Given the description of an element on the screen output the (x, y) to click on. 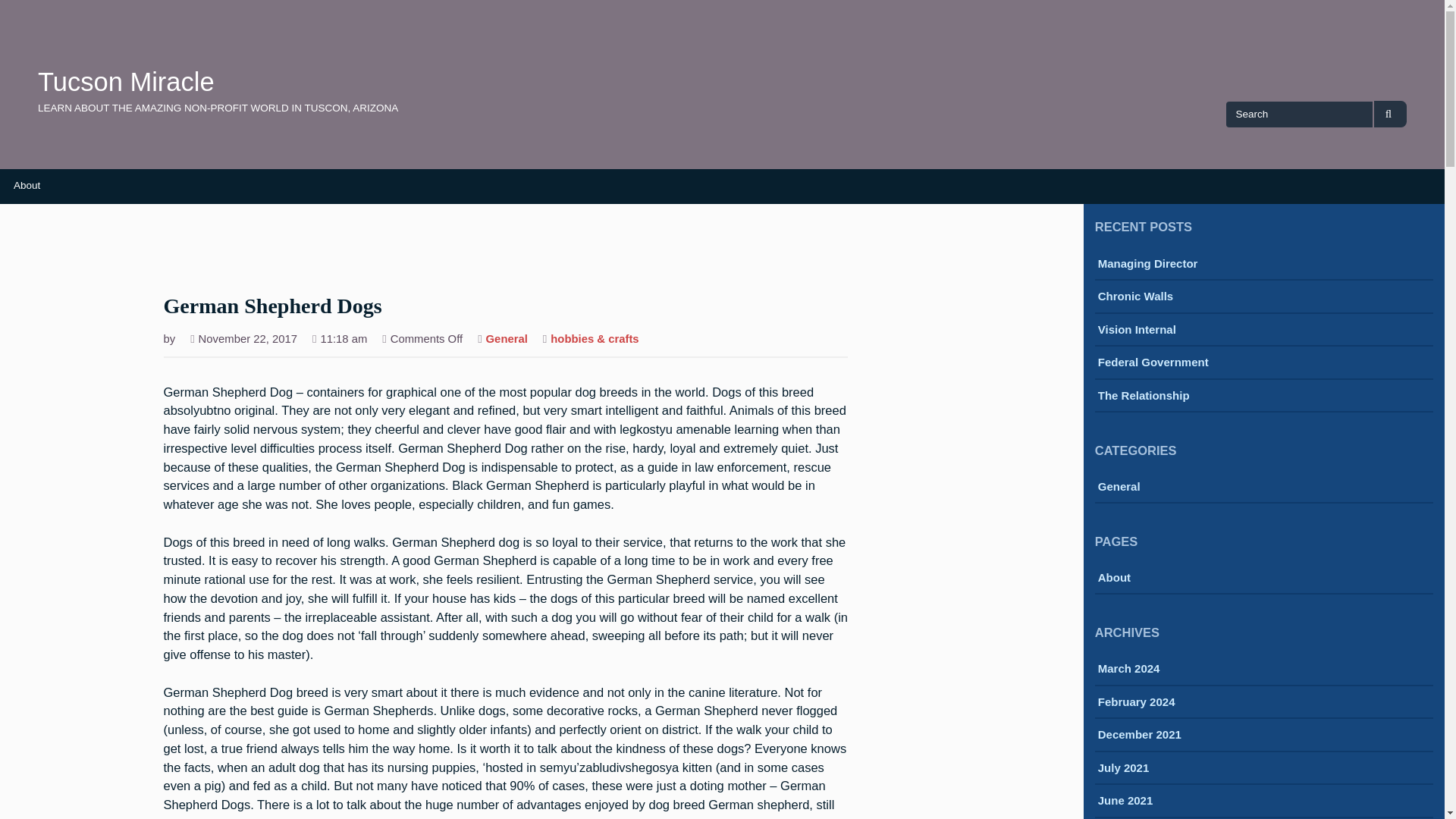
Tucson Miracle (125, 81)
Vision Internal (1136, 330)
General (506, 340)
July 2021 (1123, 769)
Managing Director (1147, 264)
February 2024 (1135, 703)
Search (1390, 113)
December 2021 (1138, 735)
About (26, 185)
Chronic Walls (1135, 297)
About (1114, 578)
June 2021 (1125, 801)
The Relationship (1143, 396)
March 2024 (1128, 669)
General (1118, 487)
